Given the description of an element on the screen output the (x, y) to click on. 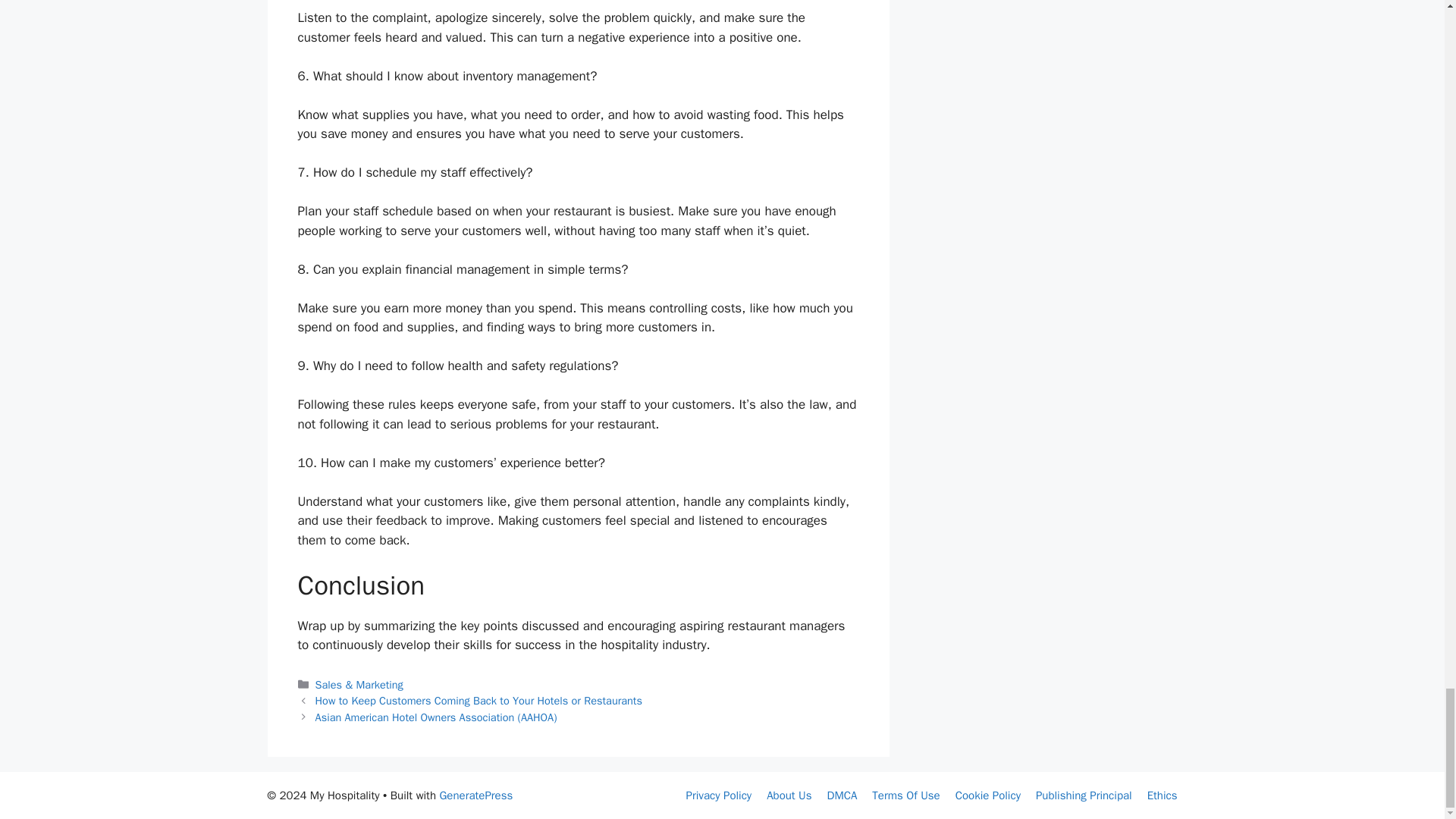
DMCA (842, 795)
About Us (788, 795)
Publishing Principal (1083, 795)
Ethics (1162, 795)
Privacy Policy (718, 795)
Cookie Policy (987, 795)
GeneratePress (475, 795)
Terms Of Use (905, 795)
